Given the description of an element on the screen output the (x, y) to click on. 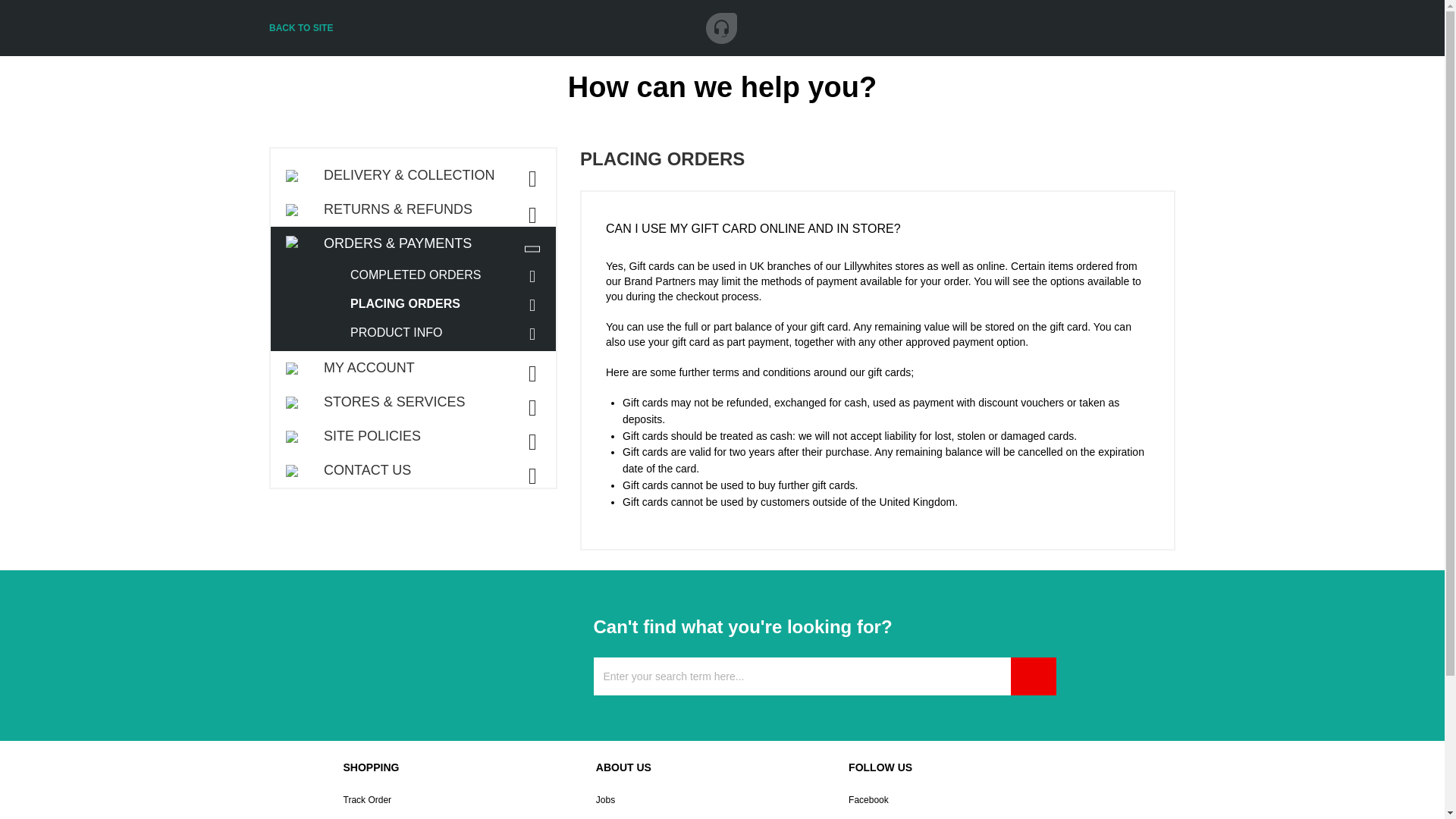
CONTACT US (413, 470)
MY ACCOUNT (413, 367)
PRODUCT INFO (449, 332)
PLACING ORDERS (449, 303)
CAN I USE MY GIFT CARD ONLINE AND IN STORE? (876, 224)
COMPLETED ORDERS (449, 275)
SITE POLICIES (413, 436)
BACK TO SITE (301, 27)
